Given the description of an element on the screen output the (x, y) to click on. 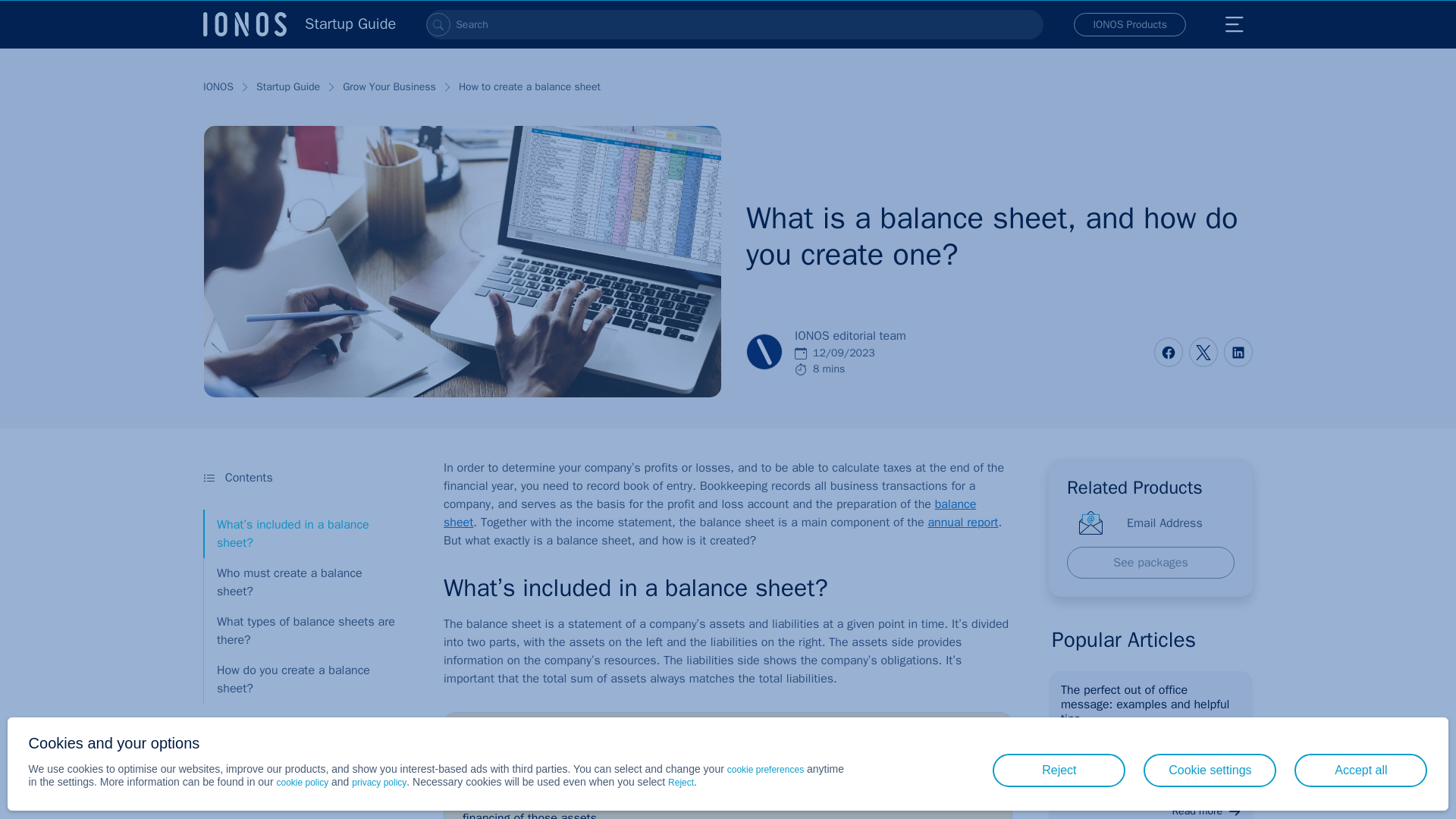
Grow Your Business (388, 86)
Startup Guide (288, 86)
IONOS Products (1130, 24)
Share on Twitter (1203, 351)
Share on LinkedIn (1238, 351)
Share on Facebook (1168, 351)
Digital Guide (299, 23)
Startup Guide (299, 23)
Balance sheet (709, 512)
Filing accounts - GOV.UK (962, 522)
IONOS editorial team (764, 351)
Search (437, 24)
IONOS (217, 86)
